Given the description of an element on the screen output the (x, y) to click on. 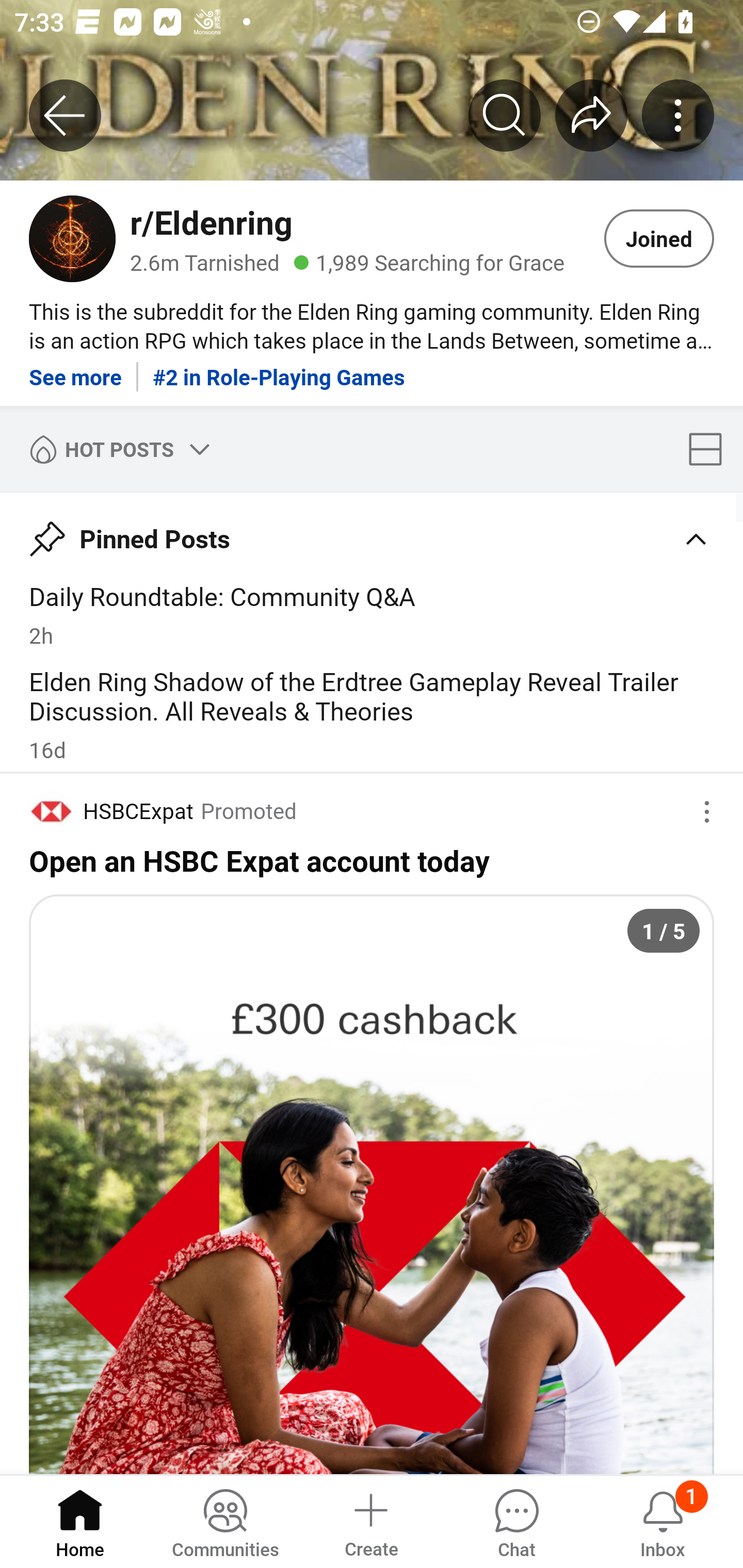
Back (64, 115)
Search r/﻿Eldenring (504, 115)
Share r/﻿Eldenring (591, 115)
More community actions (677, 115)
See more (74, 369)
#2 in Role-Playing Games (278, 369)
HOT POSTS Sort by Hot posts (115, 449)
Card display (711, 449)
Pin Pinned Posts Caret (371, 531)
Daily Roundtable: Community Q&A 2h (371, 613)
Author HSBCExpat (110, 811)
Home (80, 1520)
Communities (225, 1520)
Create a post Create (370, 1520)
Chat (516, 1520)
Inbox, has 1 notification 1 Inbox (662, 1520)
